Given the description of an element on the screen output the (x, y) to click on. 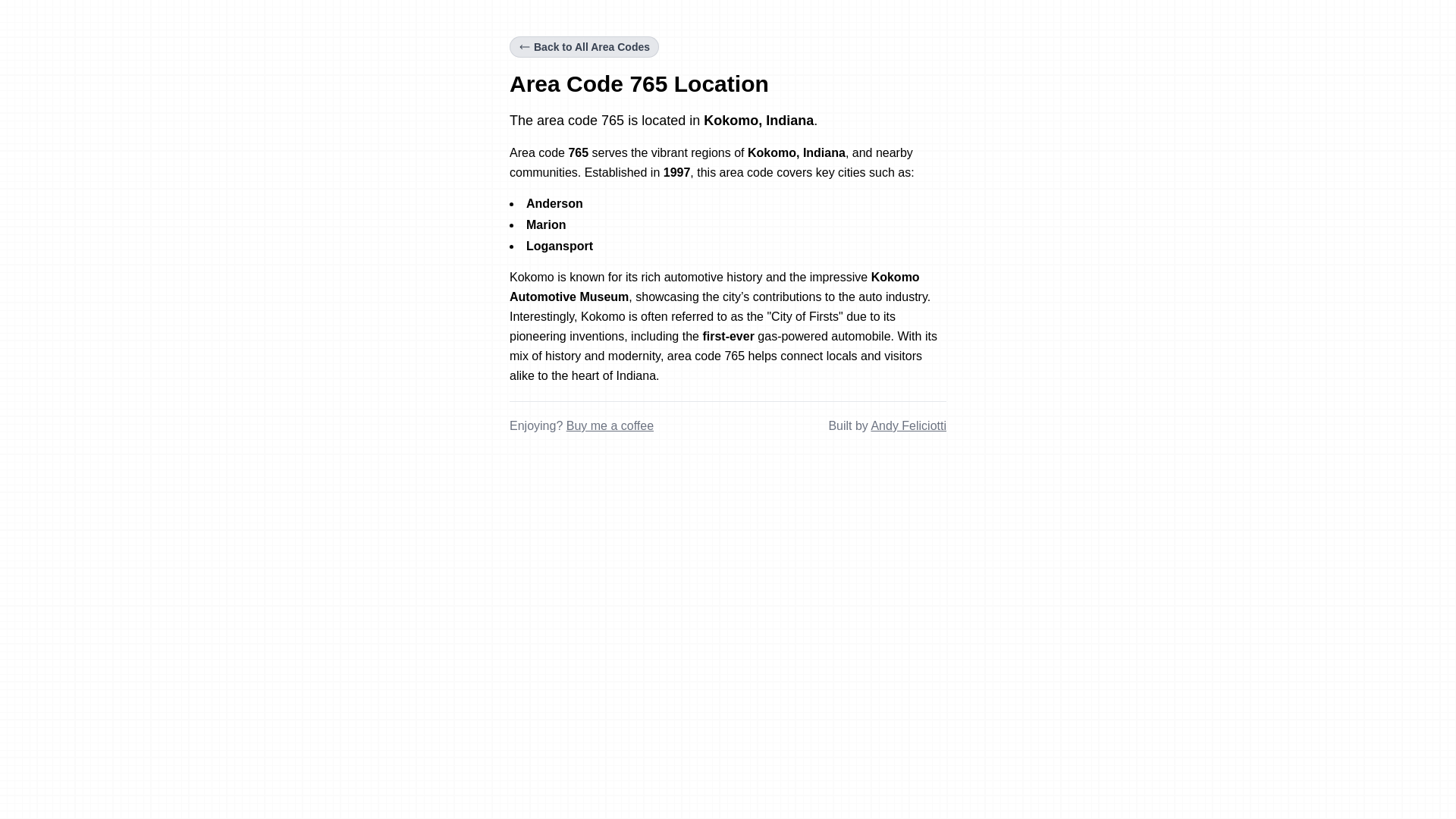
Andy Feliciotti (908, 425)
Back to All Area Codes (584, 46)
Buy me a coffee (609, 425)
